Given the description of an element on the screen output the (x, y) to click on. 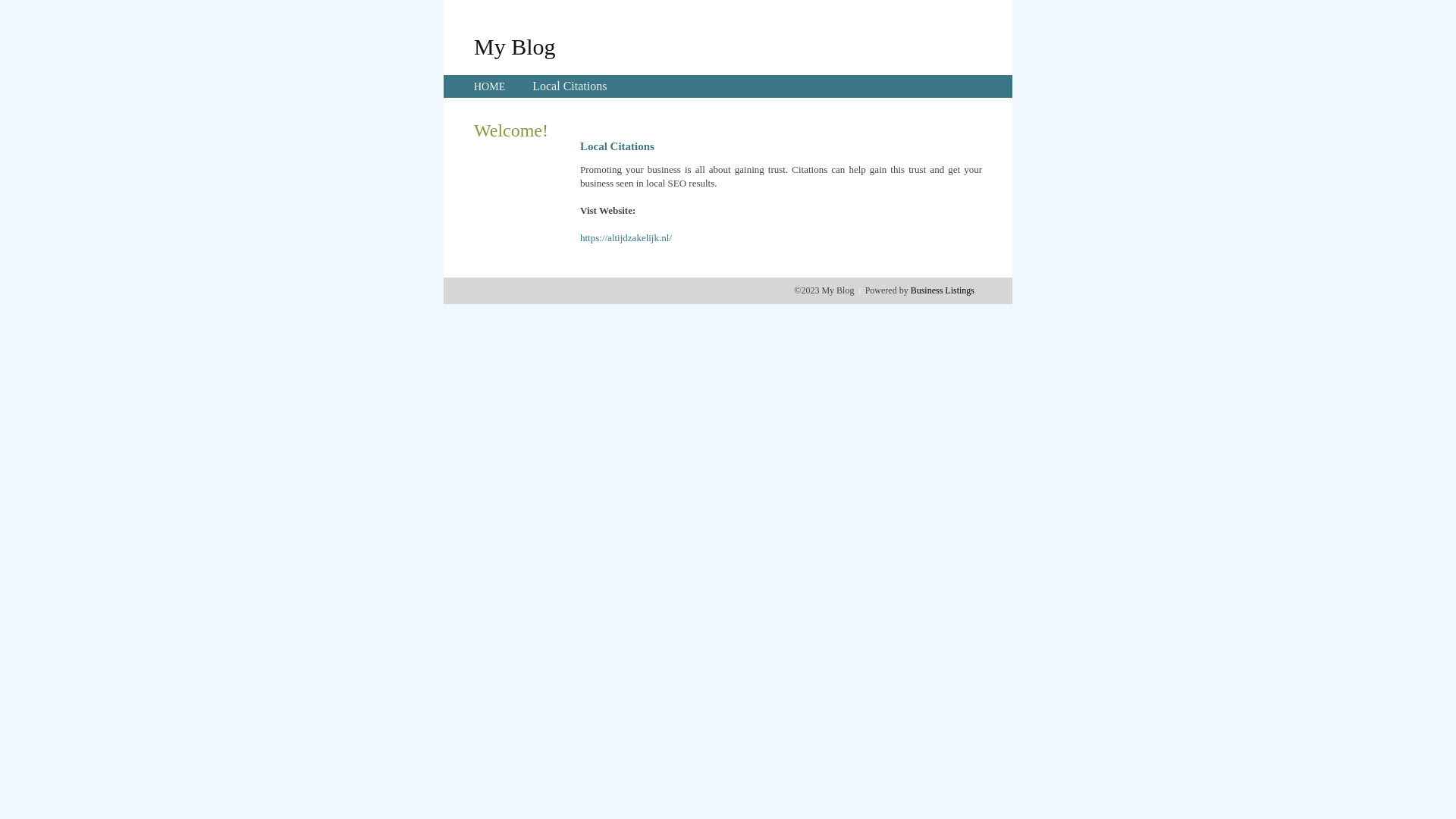
Local Citations Element type: text (569, 85)
HOME Element type: text (489, 86)
https://altijdzakelijk.nl/ Element type: text (625, 237)
Business Listings Element type: text (942, 290)
My Blog Element type: text (514, 46)
